Given the description of an element on the screen output the (x, y) to click on. 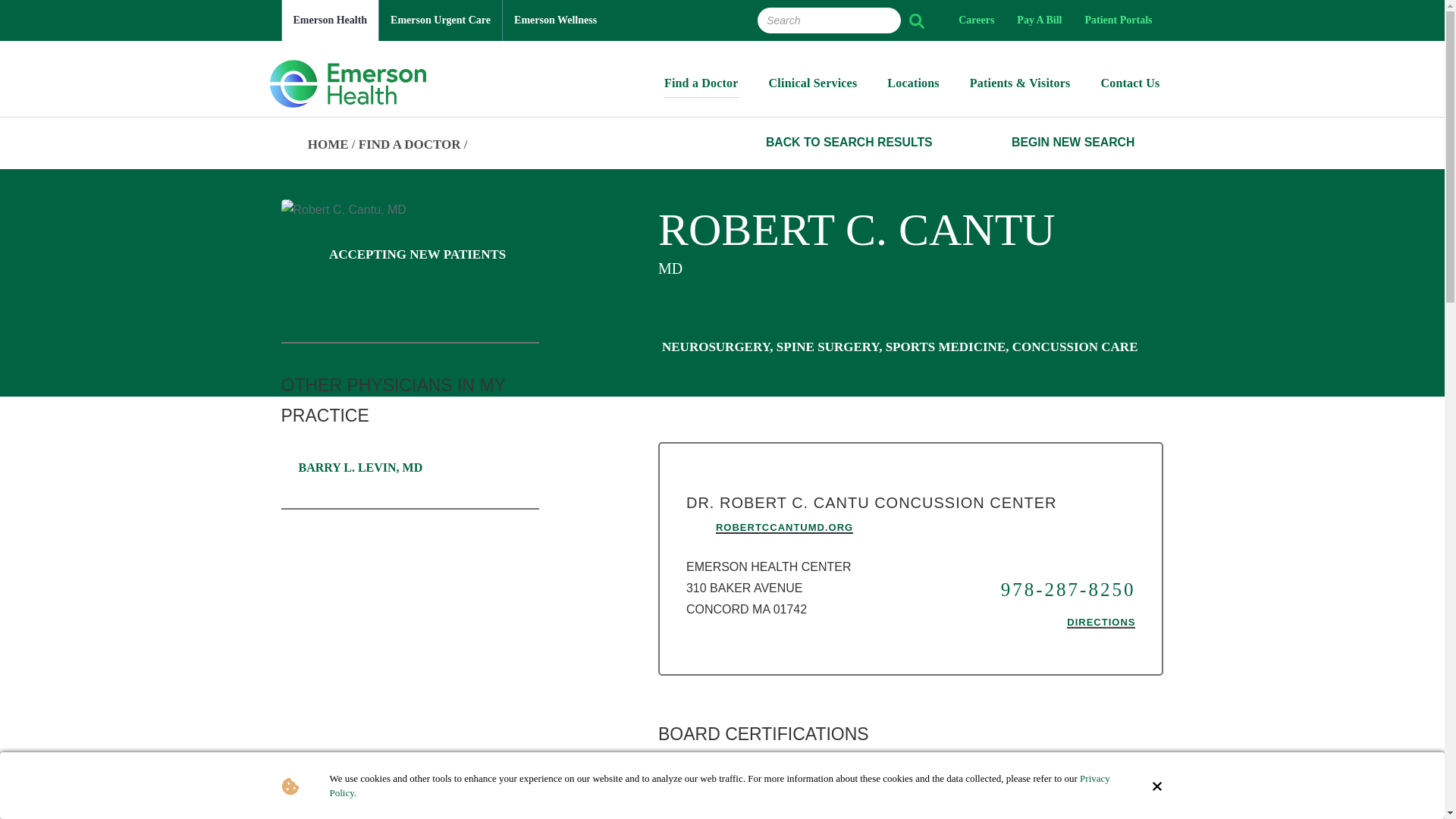
DIRECTIONS (1101, 622)
Privacy Policy. (719, 785)
Careers (976, 20)
Emerson Urgent Care (440, 20)
FIND A DOCTOR (409, 144)
Pay A Bill (1039, 20)
Contact Us (1130, 87)
Clinical Services (813, 87)
Patient Portals (1118, 20)
BARRY L. LEVIN, MD (354, 467)
